Given the description of an element on the screen output the (x, y) to click on. 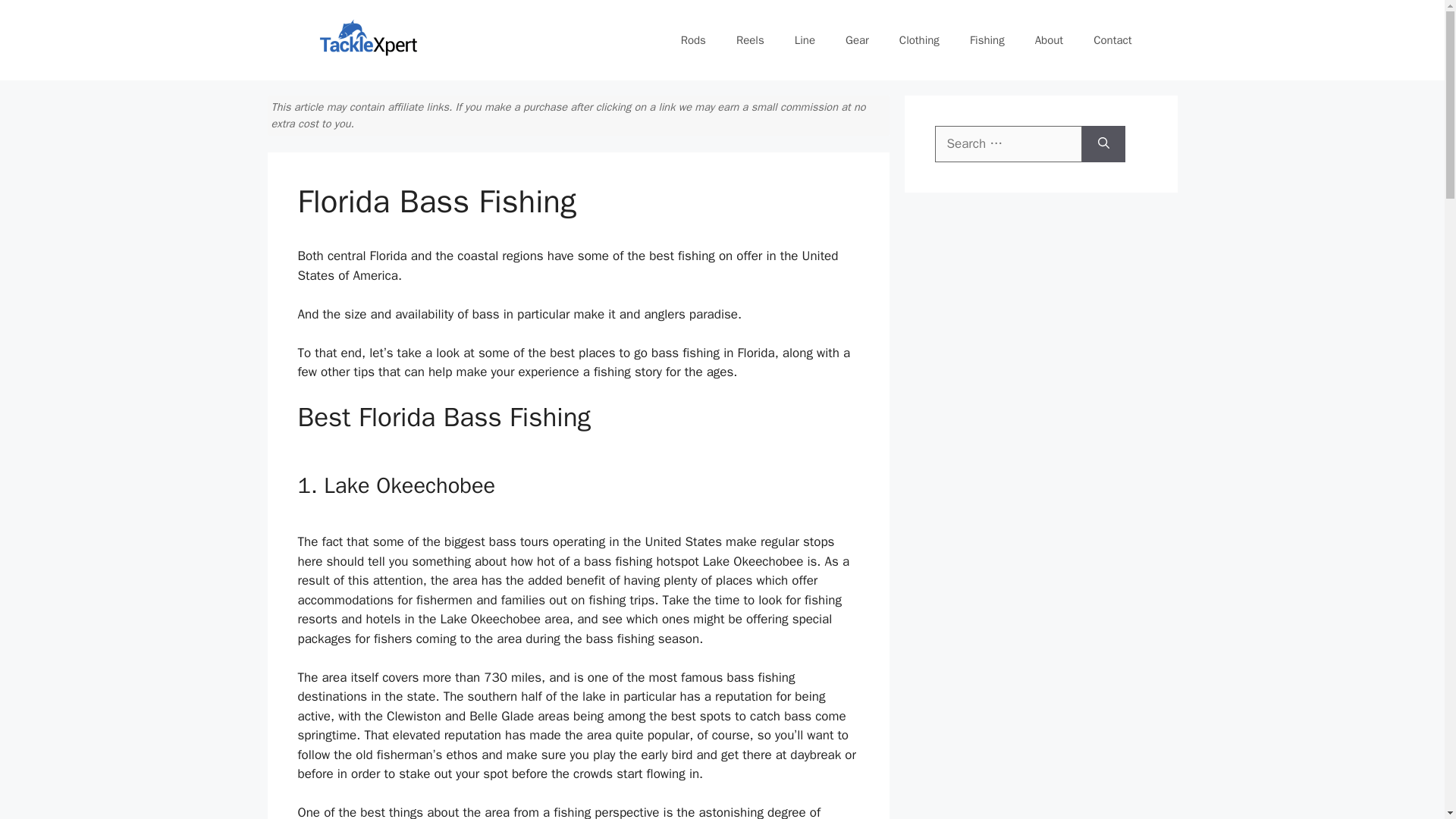
Reels (749, 40)
Gear (856, 40)
Fishing (987, 40)
Search for: (1007, 144)
About (1049, 40)
Rods (692, 40)
TackleXpert (369, 38)
TackleXpert (369, 40)
Line (803, 40)
Contact (1112, 40)
Clothing (919, 40)
